Given the description of an element on the screen output the (x, y) to click on. 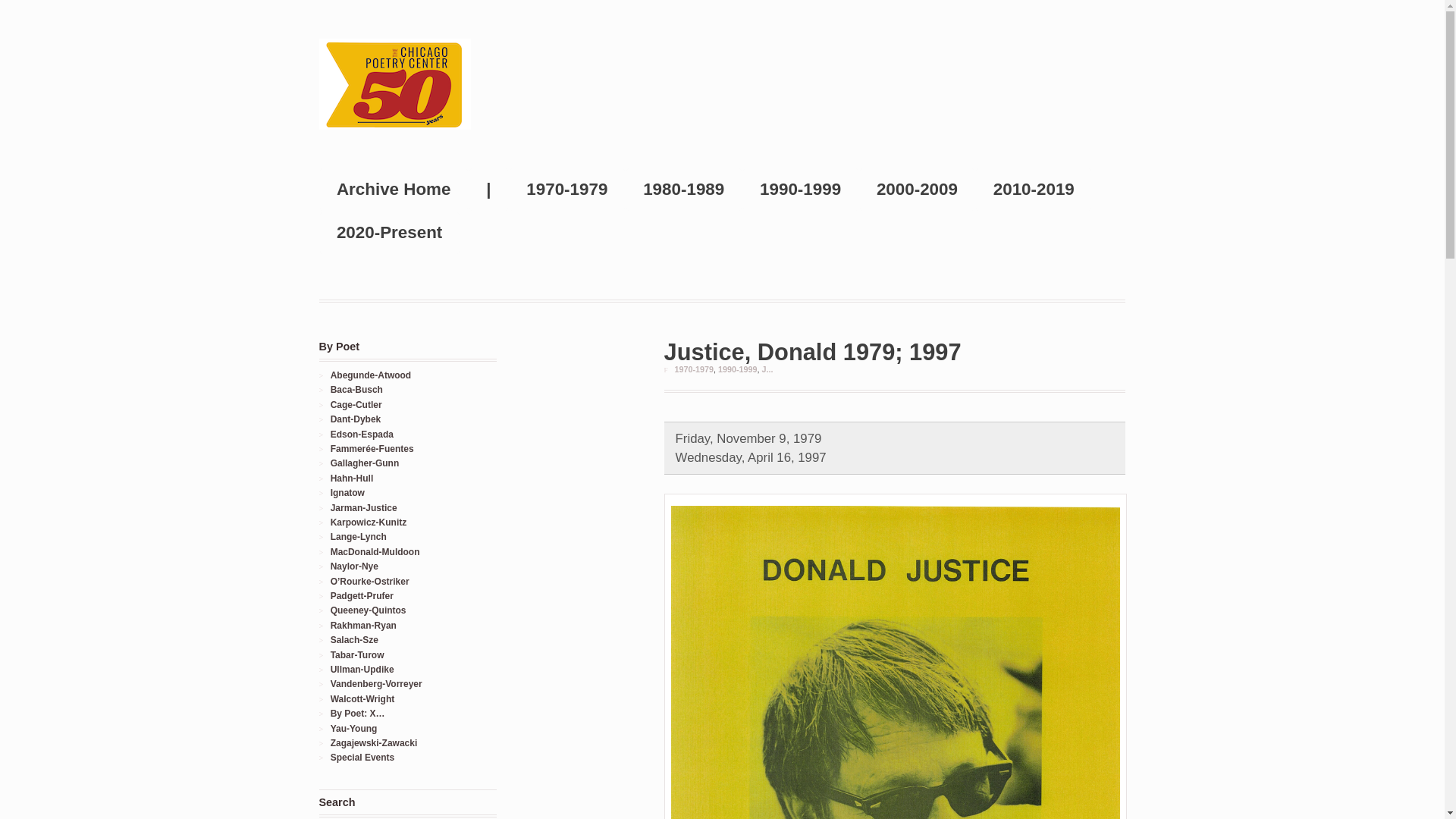
1980-1989 (684, 188)
Ignatow (347, 492)
1970-1979 (693, 368)
J... (767, 368)
Lange-Lynch (358, 536)
Jarman-Justice (363, 507)
2020-Present (389, 232)
Tabar-Turow (357, 655)
Dant-Dybek (355, 419)
2010-2019 (1033, 188)
